Given the description of an element on the screen output the (x, y) to click on. 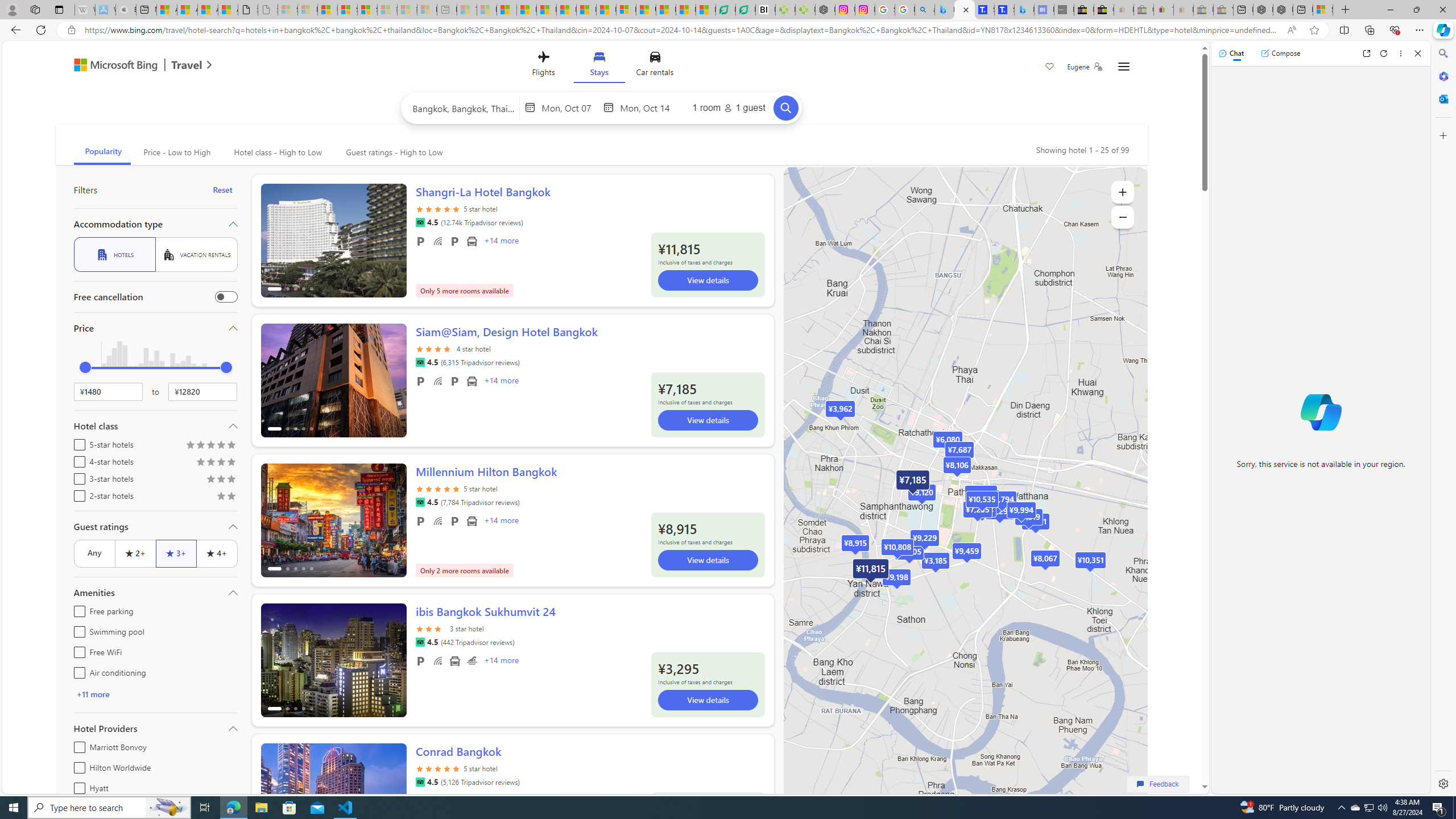
Class: trvl-hub-header (601, 65)
HOTELS (113, 254)
ScrollRight (391, 795)
Nordace - Summer Adventures 2024 (1282, 9)
Hotel Providers (154, 728)
Price (154, 327)
Hilton Worldwide (76, 765)
Drinking tea every day is proven to delay biological aging (565, 9)
Descarga Driver Updater (804, 9)
LendingTree - Compare Lenders (745, 9)
